Given the description of an element on the screen output the (x, y) to click on. 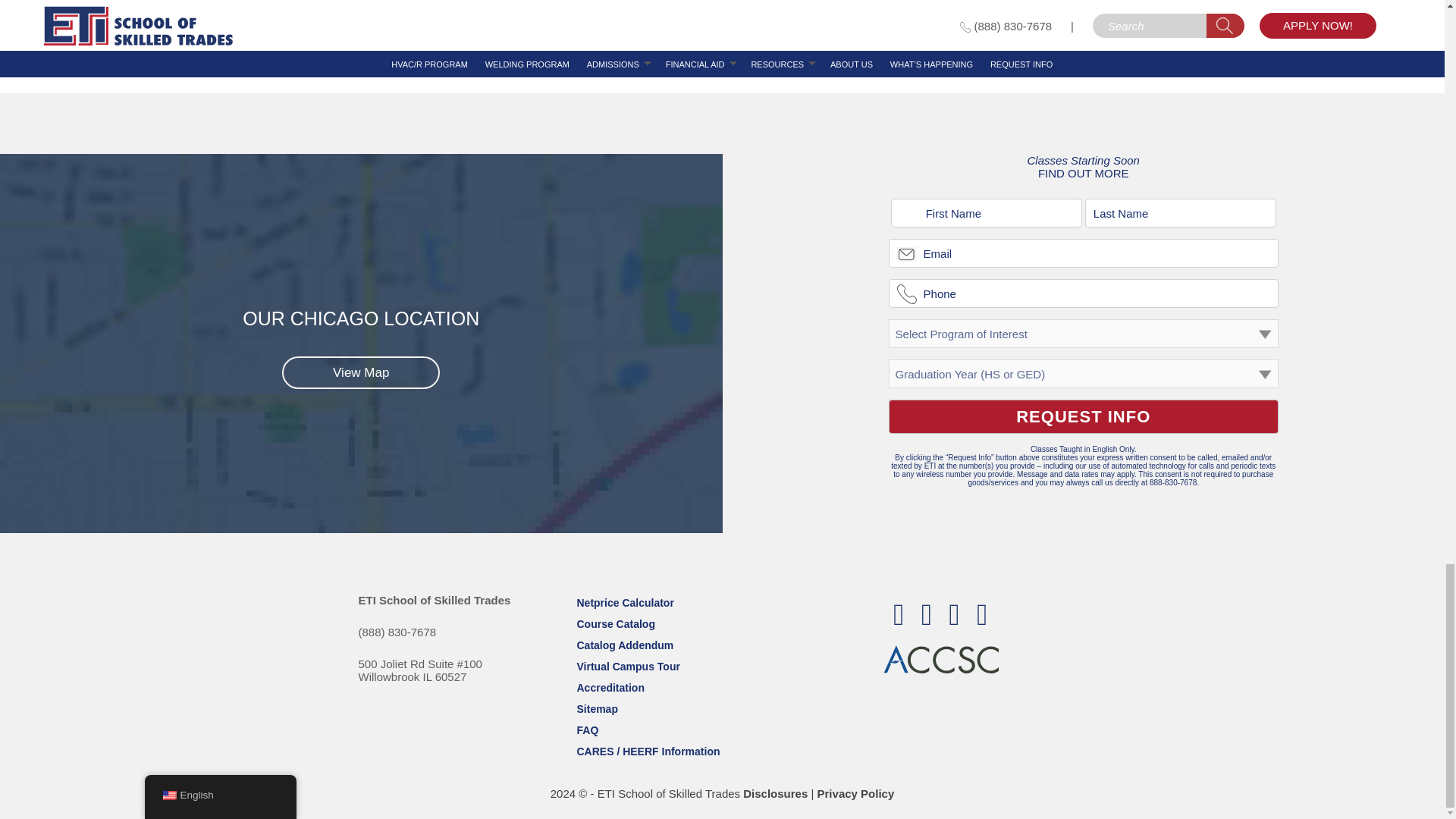
FAQ (587, 729)
REQUEST INFO (1083, 416)
Netprice Calculator (1083, 416)
Virtual Campus Tour (624, 603)
Course Catalog (627, 666)
Catalog Addendum (614, 623)
Accreditation (624, 645)
Sitemap (609, 687)
